Given the description of an element on the screen output the (x, y) to click on. 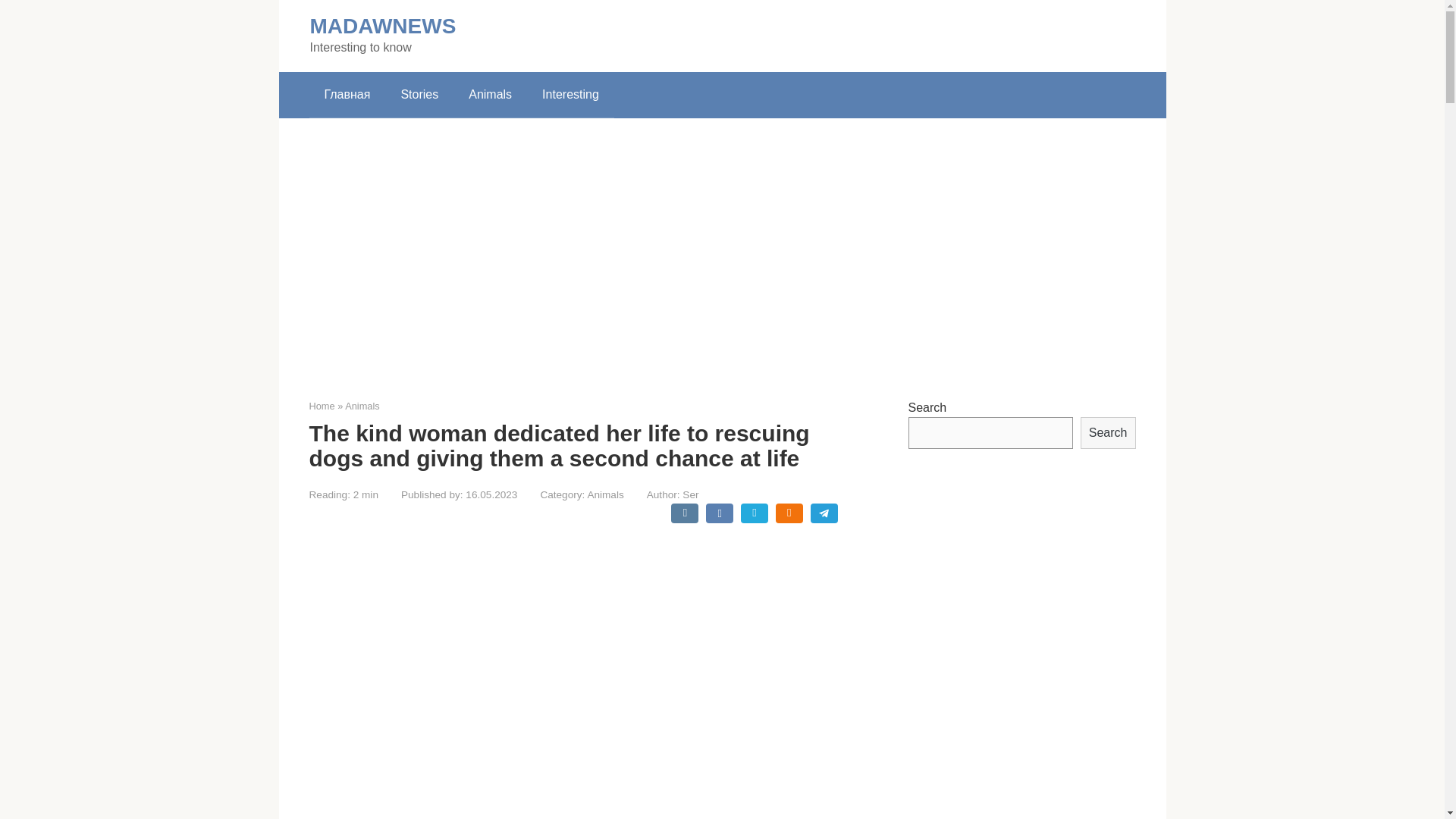
Stories (418, 94)
MADAWNEWS (381, 25)
Home (321, 405)
Animals (362, 405)
Animals (604, 494)
Animals (489, 94)
Interesting (570, 94)
